Given the description of an element on the screen output the (x, y) to click on. 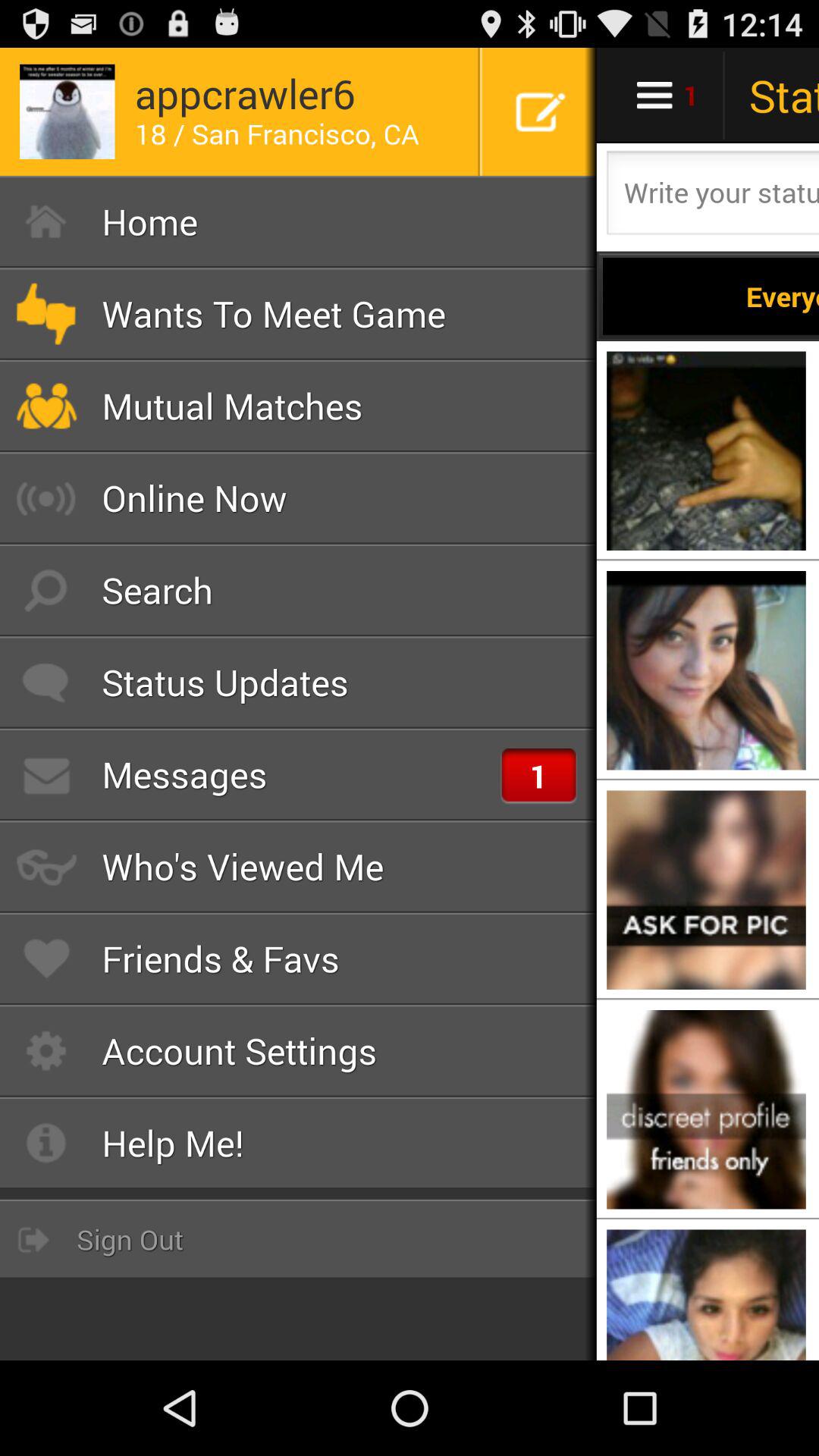
jump until everyone (710, 295)
